Given the description of an element on the screen output the (x, y) to click on. 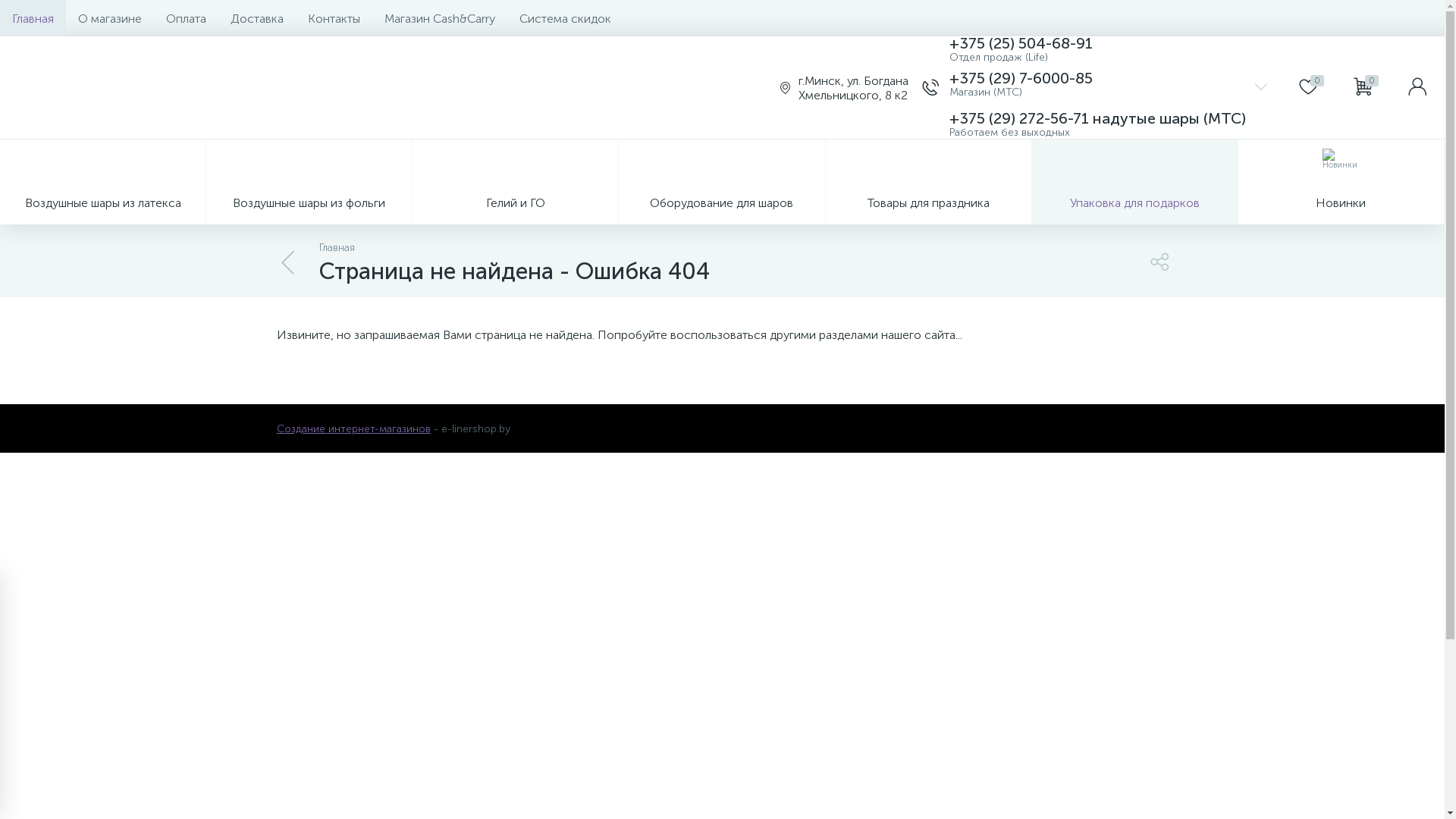
0 Element type: text (1307, 87)
0 Element type: text (1362, 87)
